Given the description of an element on the screen output the (x, y) to click on. 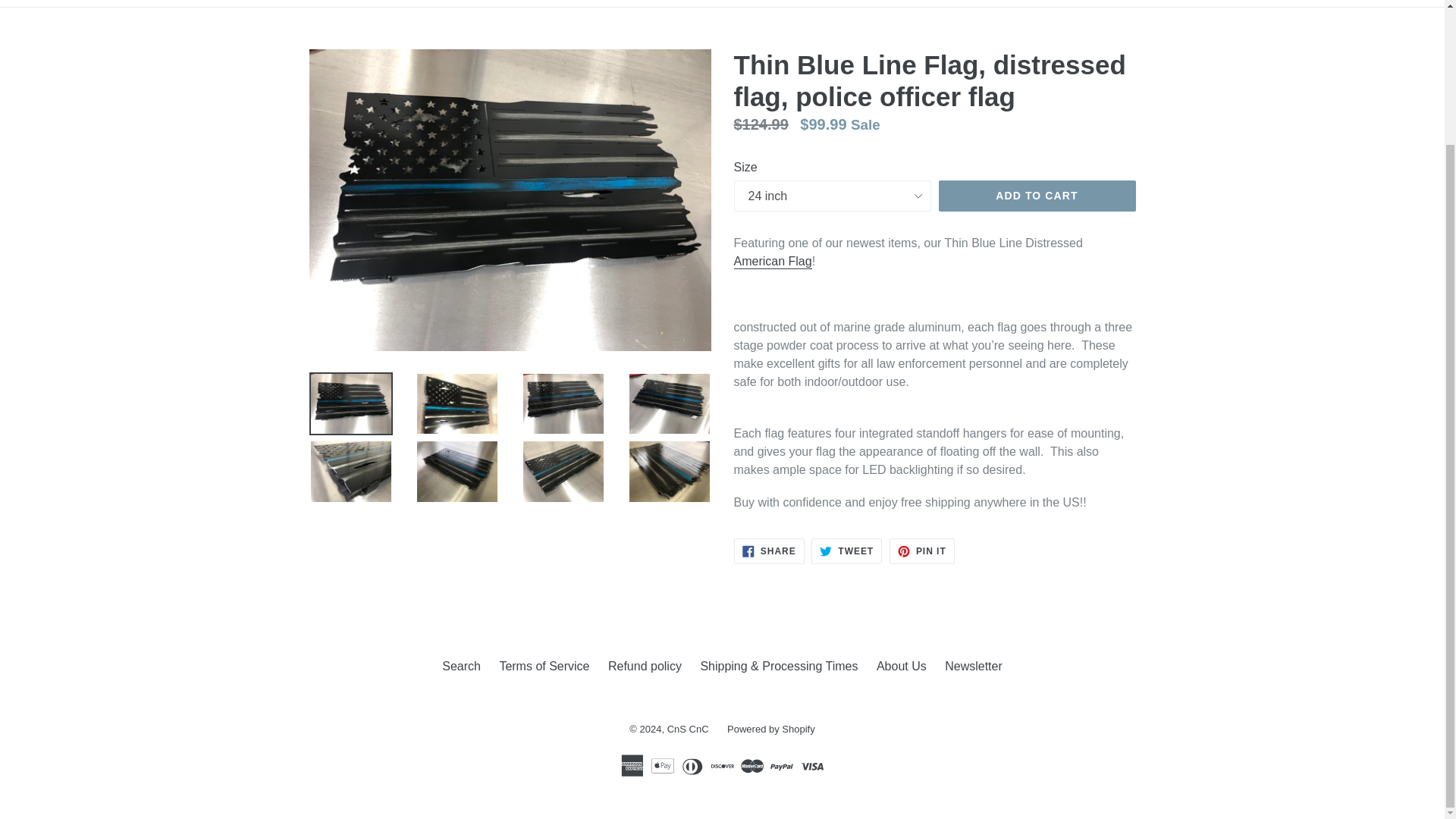
American Flag (772, 261)
Share on Facebook (769, 551)
thin blue line flag, distressed flag, leo flag (772, 261)
Tweet on Twitter (846, 551)
Pin on Pinterest (922, 551)
ADD TO CART (769, 551)
